Given the description of an element on the screen output the (x, y) to click on. 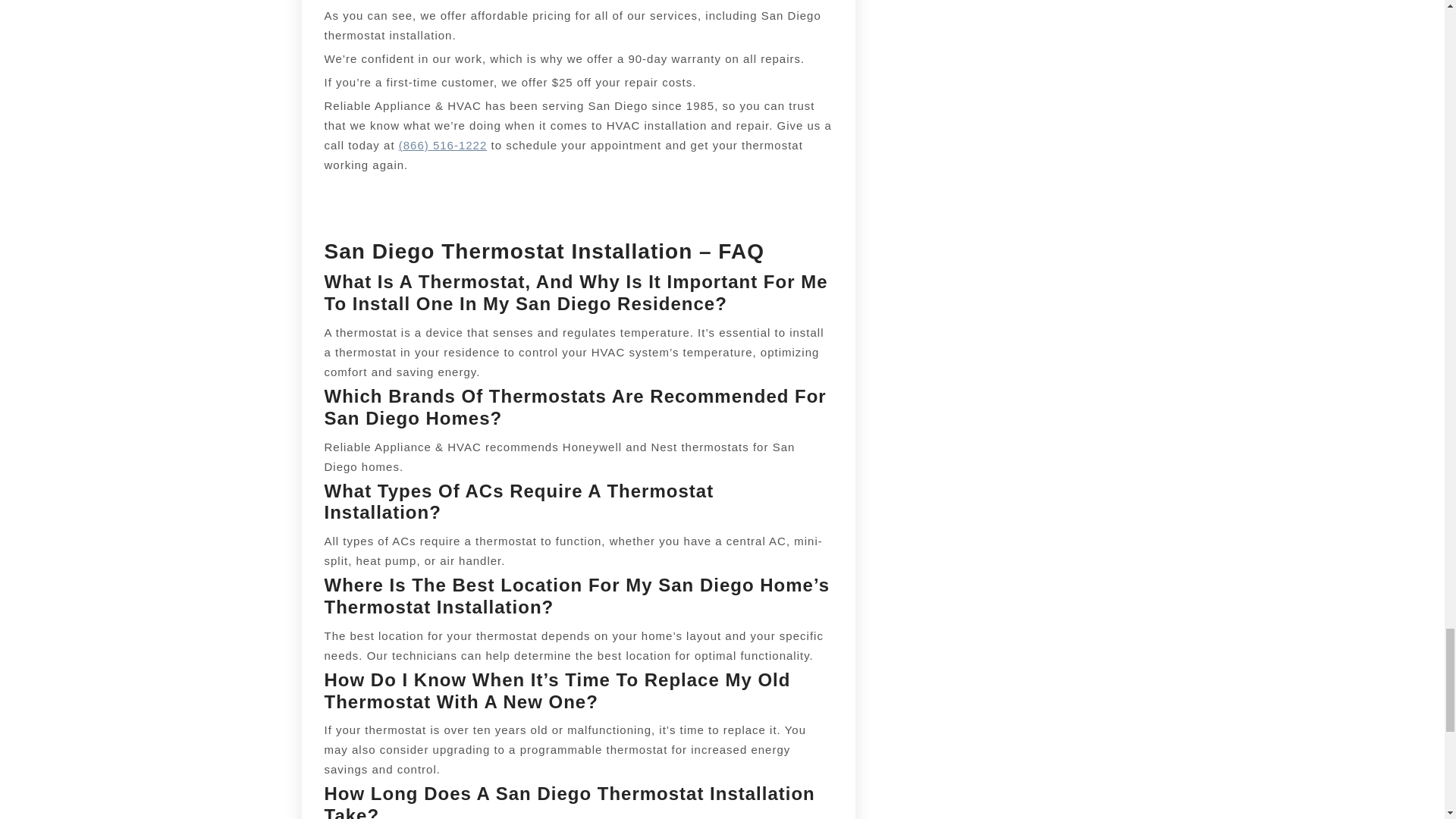
Thermostat Installation in San Diego (442, 144)
